Given the description of an element on the screen output the (x, y) to click on. 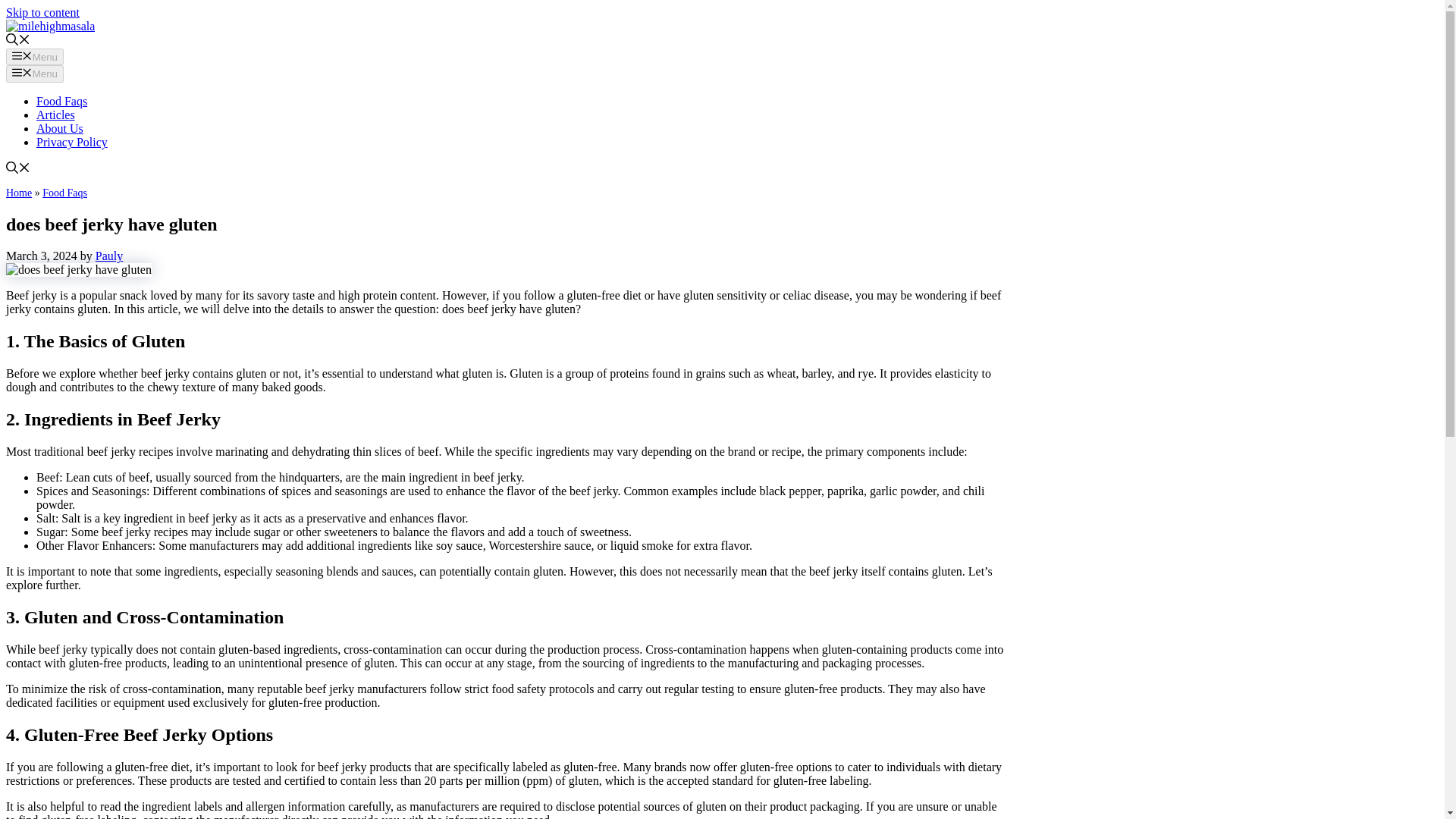
Skip to content (42, 11)
Menu (34, 73)
Skip to content (42, 11)
Menu (34, 56)
Home (18, 193)
Food Faqs (61, 101)
Pauly (109, 255)
Articles (55, 114)
Privacy Policy (71, 141)
View all posts by Pauly (109, 255)
